Given the description of an element on the screen output the (x, y) to click on. 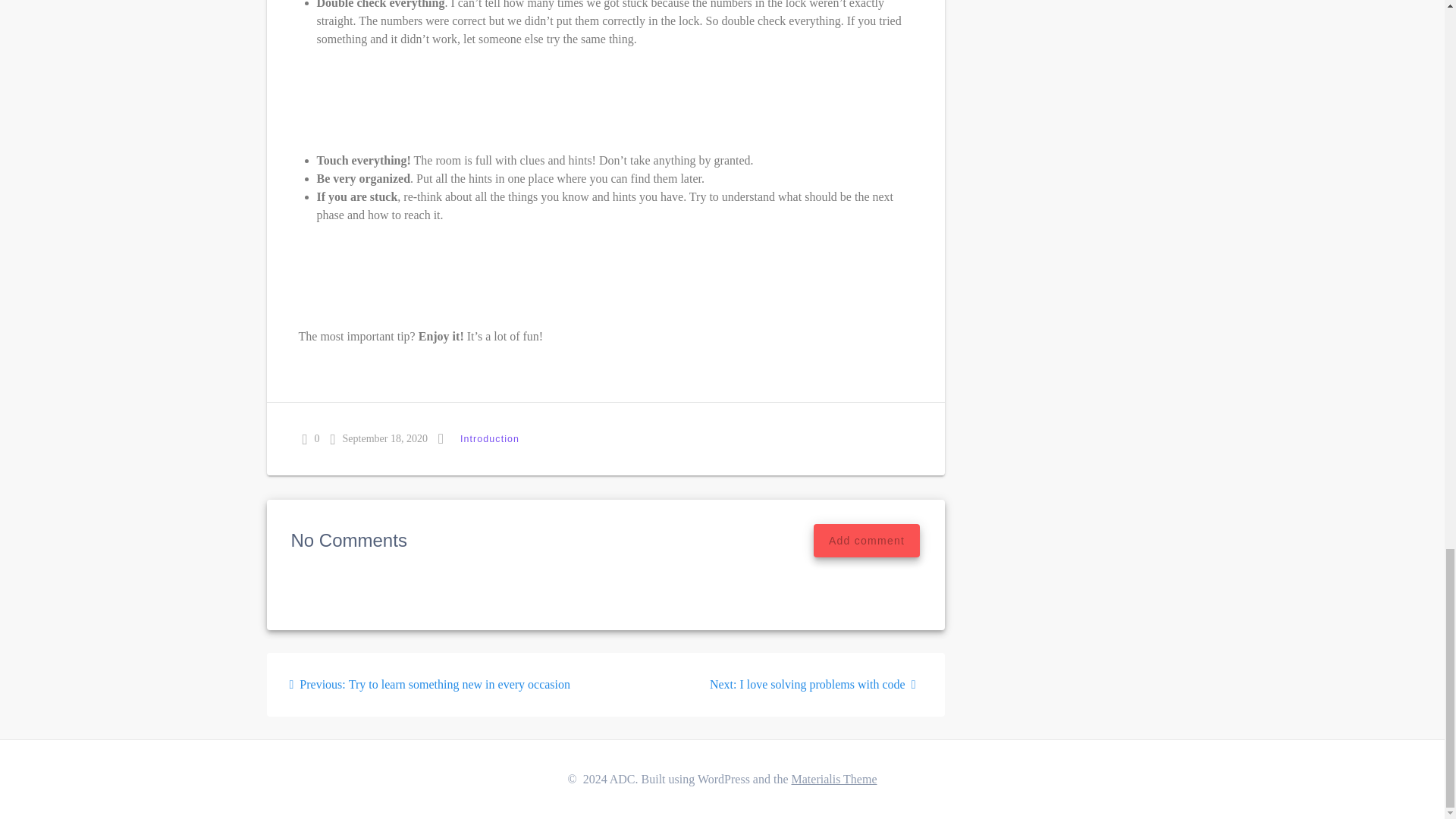
0 (309, 438)
Materialis Theme (834, 779)
Add comment (866, 540)
Introduction (429, 684)
September 18, 2020 (489, 438)
